Given the description of an element on the screen output the (x, y) to click on. 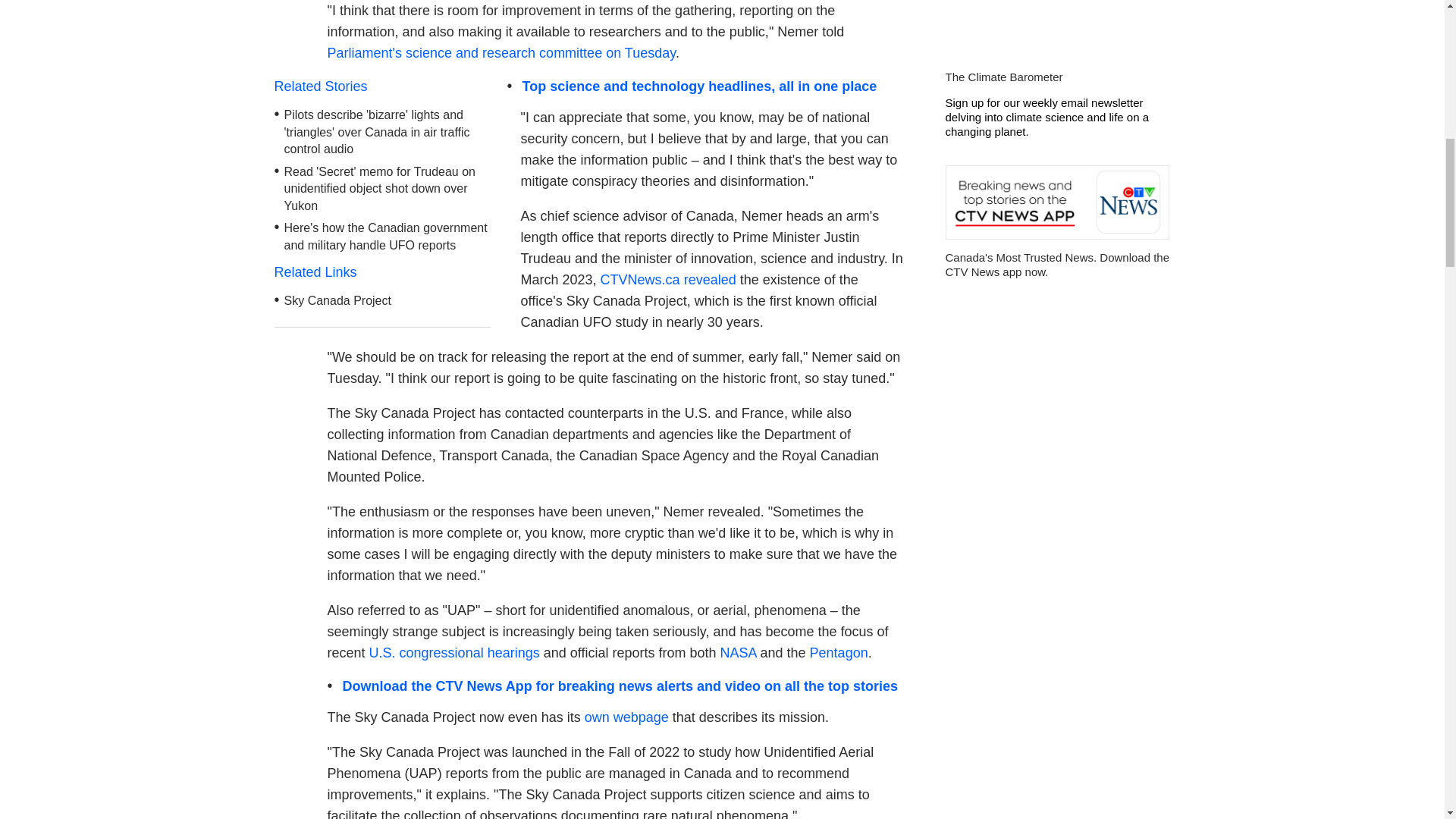
own webpage (626, 717)
Sky Canada Project (337, 300)
Parliament's science and research committee on Tuesday (501, 52)
CTVNews.ca revealed (667, 279)
Pentagon (838, 652)
Top science and technology headlines, all in one place (698, 86)
U.S. congressional hearings (454, 652)
NASA (738, 652)
